Given the description of an element on the screen output the (x, y) to click on. 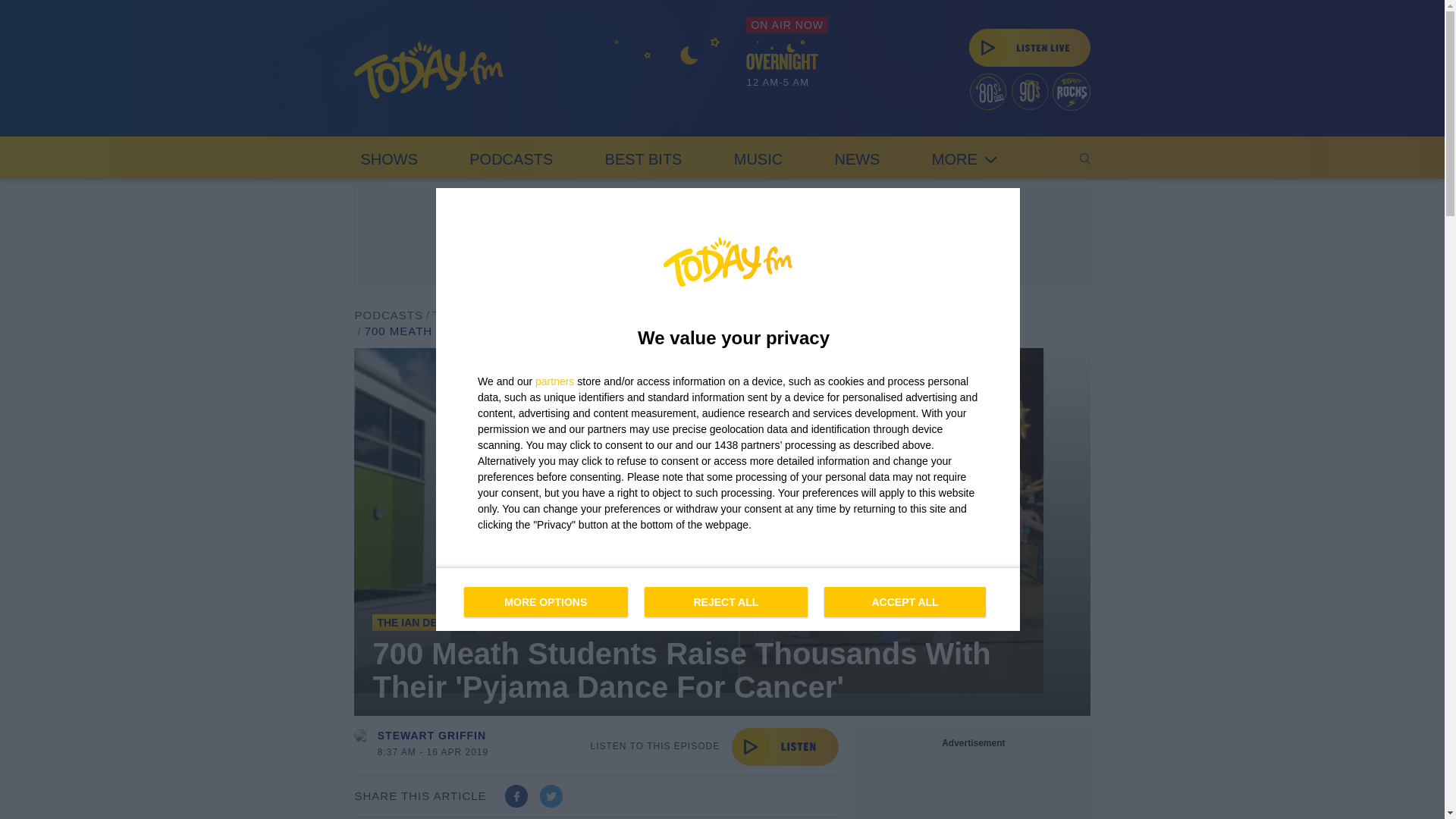
SHOWS (388, 157)
THE IAN DEMPSEY BREAKFAST SHOW (550, 314)
Overnight (667, 75)
12 AM-5 AM (786, 67)
MORE OPTIONS (545, 602)
MORE (964, 158)
Best Bits (643, 157)
Shows (388, 157)
News (856, 157)
PODCASTS (388, 314)
